Given the description of an element on the screen output the (x, y) to click on. 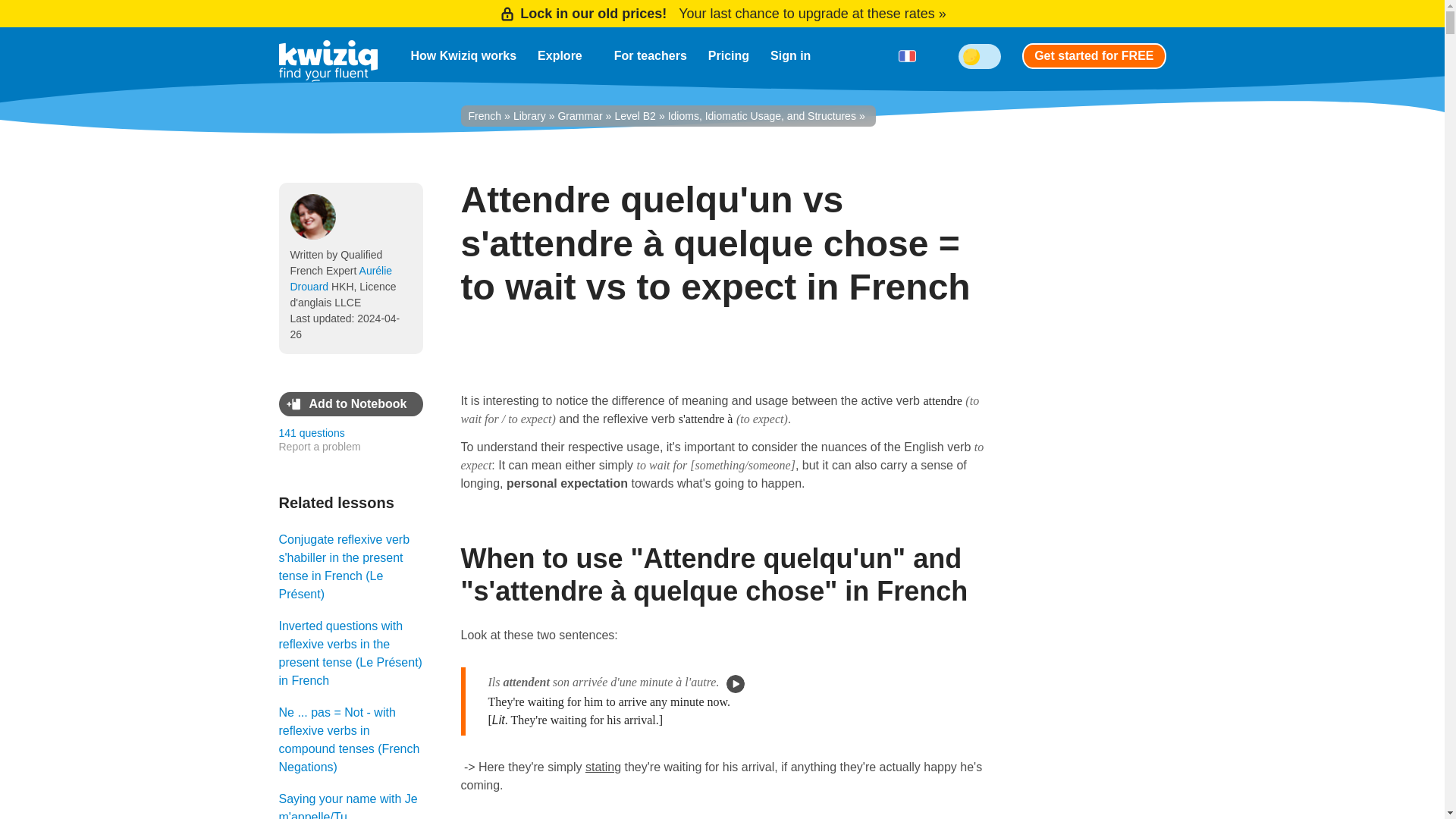
How Kwiziq works (463, 56)
Save this lesson in your Notebook to review later (351, 404)
Toggle Dark Mode (979, 56)
For teachers (650, 56)
Sign in (790, 56)
Pricing (728, 56)
Explore (565, 56)
